Given the description of an element on the screen output the (x, y) to click on. 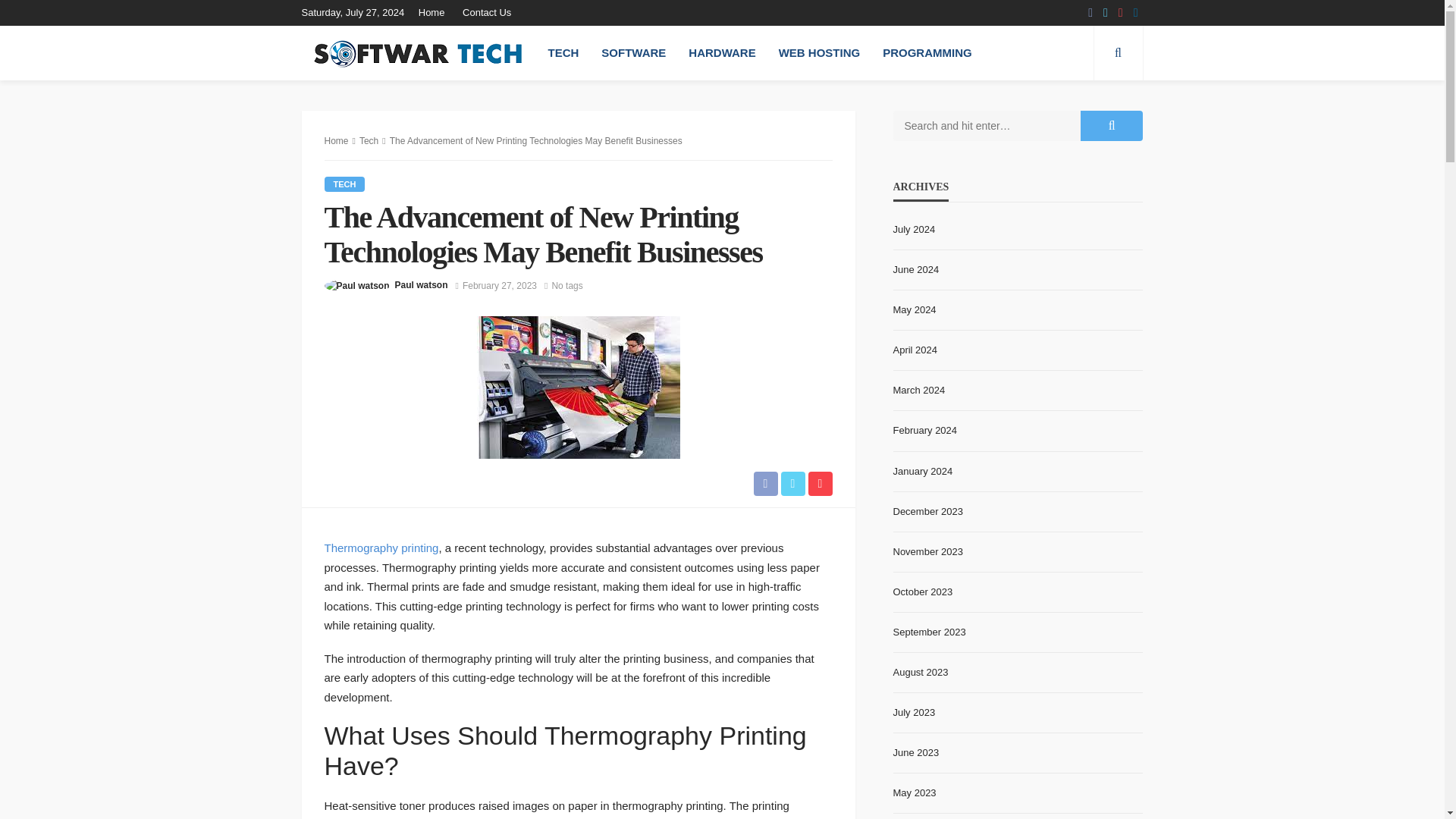
Softwar Tech (415, 52)
Search for: (986, 125)
Tech (344, 183)
